Given the description of an element on the screen output the (x, y) to click on. 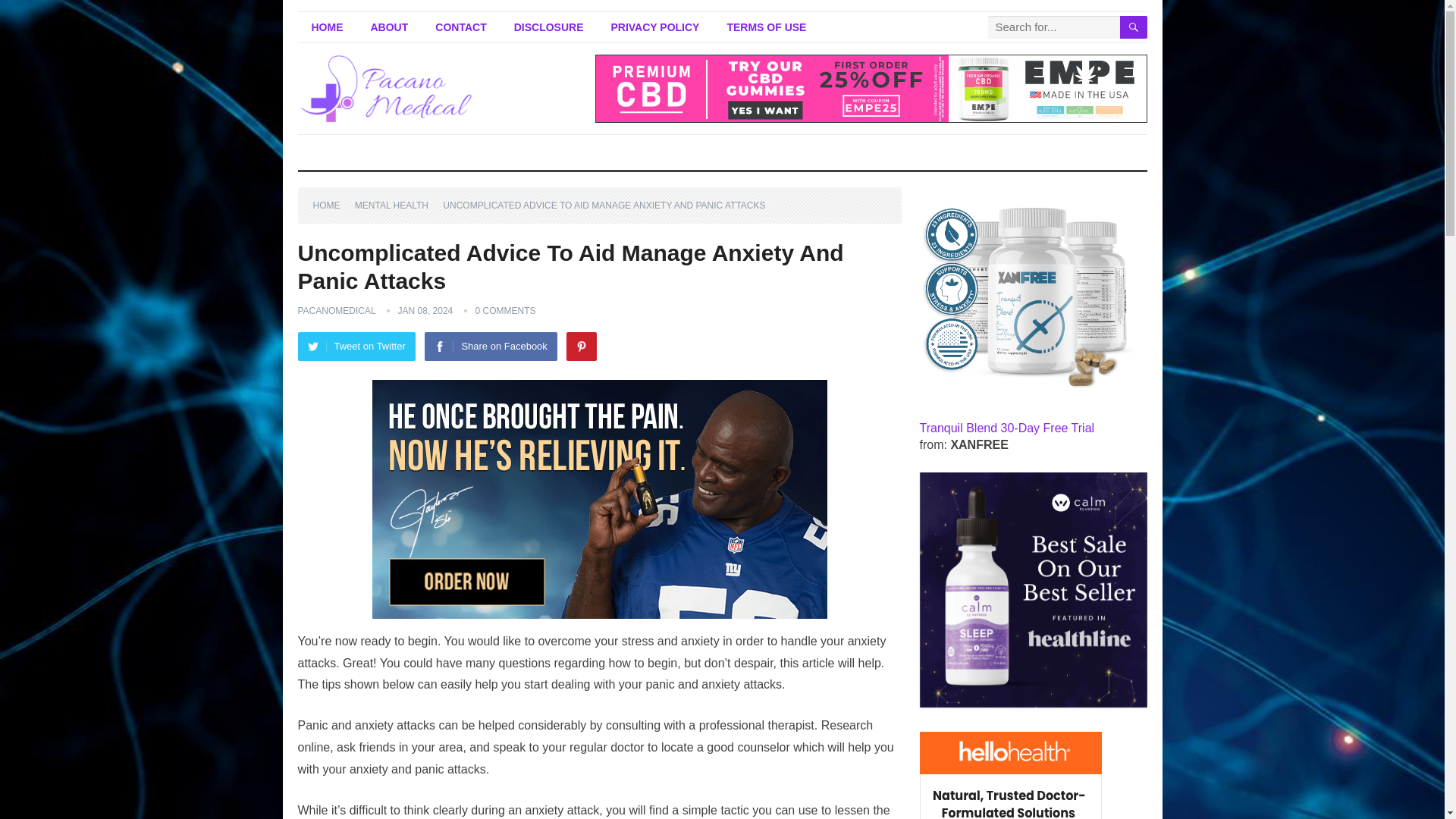
Tweet on Twitter (355, 346)
View all posts in Mental Health (397, 204)
Share on Facebook (490, 346)
HOME (326, 27)
Posts by PacanoMedical (336, 310)
PACANOMEDICAL (336, 310)
0 COMMENTS (505, 310)
ABOUT (389, 27)
CONTACT (460, 27)
DISCLOSURE (548, 27)
